Given the description of an element on the screen output the (x, y) to click on. 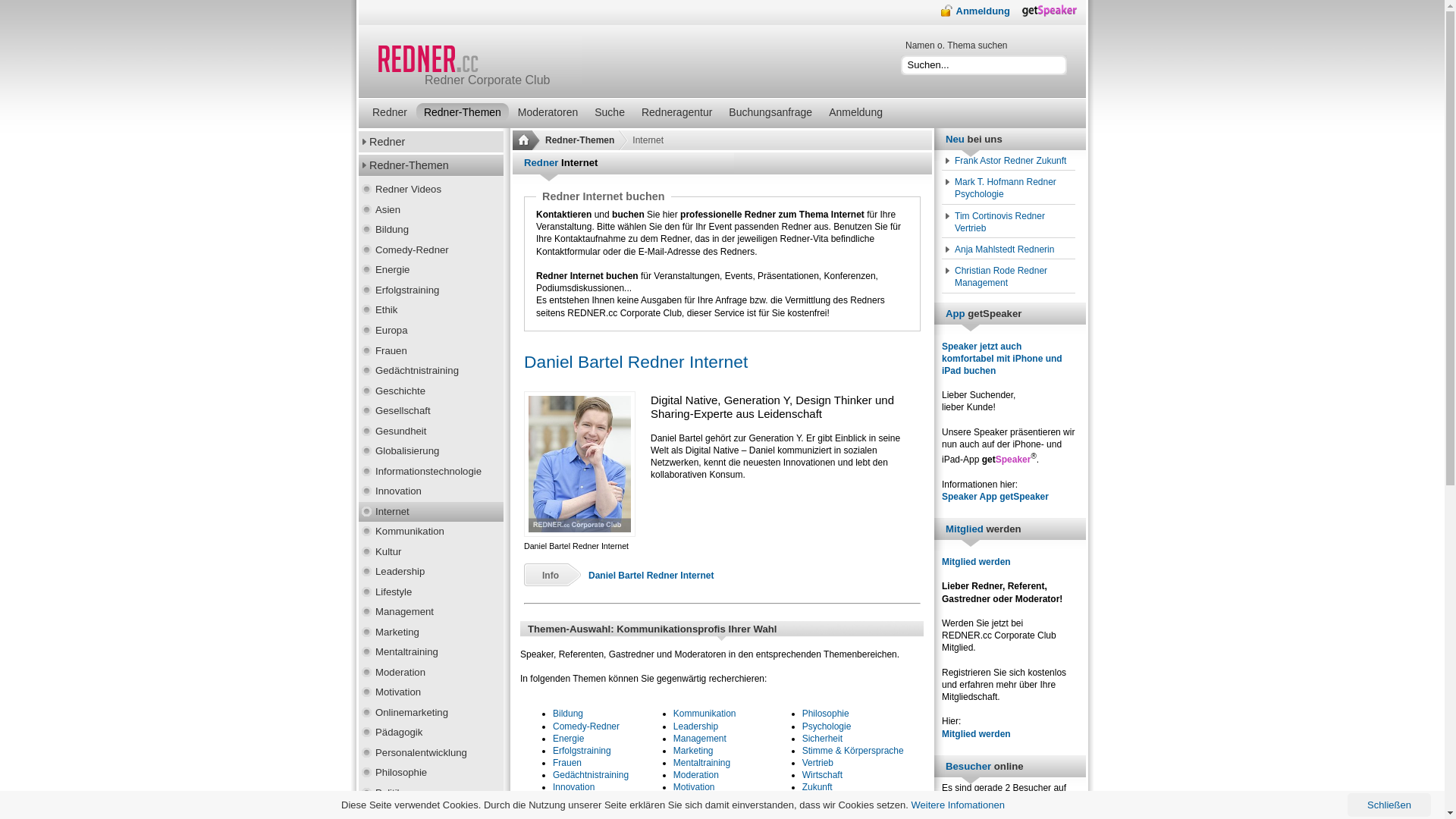
Lifestyle Element type: text (430, 592)
Onlinemarketing Element type: text (430, 712)
Redner Video Element type: text (829, 799)
Asien Element type: text (430, 210)
Gesellschaft Element type: text (430, 411)
Redner App getSpeaker Element type: hover (1053, 14)
Gesundheit Element type: text (430, 431)
Energie Element type: text (430, 270)
Mitglied werden Element type: text (975, 733)
Europa Element type: text (430, 330)
Redner Element type: text (389, 112)
Vertrieb Element type: text (817, 762)
Weitere Infomationen Element type: text (957, 804)
Daniel Bartel Redner Internet Element type: text (650, 575)
Speaker App getSpeaker Element type: text (994, 496)
Management Element type: text (699, 738)
Motivation Element type: text (694, 786)
Redner Corporate Club Element type: text (476, 60)
Redner-Themen Element type: text (462, 112)
Anmeldung Element type: text (855, 112)
Redner-Themen Element type: text (579, 140)
Internet Element type: text (567, 799)
Informationstechnologie Element type: text (430, 471)
Internet Element type: text (430, 512)
Kommunikation Element type: text (704, 713)
Mentaltraining Element type: text (701, 762)
Moderation Element type: text (695, 774)
Philosophie Element type: text (430, 772)
Zukunft Element type: text (817, 786)
Innovation Element type: text (573, 786)
Redner Videos Element type: text (430, 189)
Bildung Element type: text (430, 229)
Sicherheit Element type: text (822, 738)
Redner Element type: text (430, 141)
Redner-Themen Element type: text (430, 164)
Bildung Element type: text (567, 713)
Globalisierung Element type: text (430, 451)
Comedy-Redner Element type: text (430, 250)
Psychologie Element type: text (826, 726)
Philosophie Element type: text (825, 713)
Frauen Element type: text (566, 762)
Politik Element type: text (430, 793)
Mentaltraining Element type: text (430, 652)
Innovation Element type: text (430, 491)
Geschichte Element type: text (430, 391)
Ethik Element type: text (430, 310)
Mitglied werden Element type: text (975, 561)
Erfolgstraining Element type: text (581, 750)
Kommunikation Element type: text (430, 531)
Tim Cortinovis Redner Vertrieb Element type: text (1010, 222)
Moderatoren Element type: text (547, 112)
Kultur Element type: text (430, 552)
Wirtschaft Element type: text (822, 774)
Buchungsanfrage Element type: text (770, 112)
Anmeldung Element type: text (975, 10)
Speaker jetzt auch komfortabel mit iPhone und iPad buchen Element type: text (1001, 358)
Marketing Element type: text (430, 632)
Mark T. Hofmann Redner Psychologie Element type: text (1010, 187)
Energie Element type: text (567, 738)
Comedy-Redner Element type: text (585, 726)
Anja Mahlstedt Rednerin Element type: text (1010, 249)
Christian Rode Redner Management Element type: text (1010, 276)
Frank Astor Redner Zukunft Element type: text (1010, 160)
Management Element type: text (430, 612)
Leadership Element type: text (695, 726)
Erfolgstraining Element type: text (430, 290)
Leadership Element type: text (430, 571)
Personalentwicklung Element type: text (714, 799)
Daniel Bartel Redner Internet Element type: text (635, 361)
Motivation Element type: text (430, 692)
Redneragentur Element type: text (676, 112)
Personalentwicklung Element type: text (430, 753)
Frauen Element type: text (430, 351)
Marketing Element type: text (693, 750)
Suche Element type: text (609, 112)
Moderation Element type: text (430, 672)
